Given the description of an element on the screen output the (x, y) to click on. 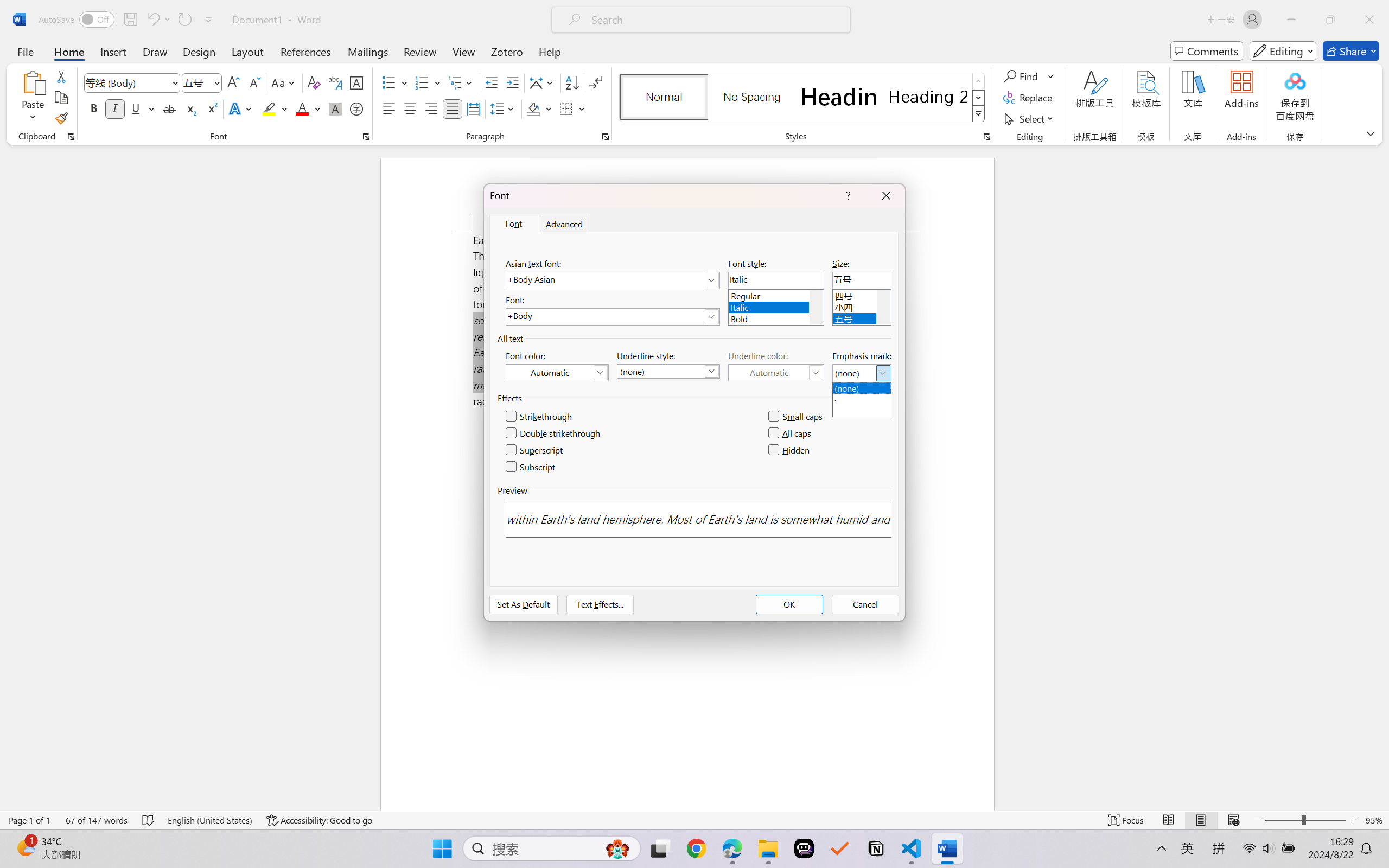
Multilevel List (461, 82)
